Given the description of an element on the screen output the (x, y) to click on. 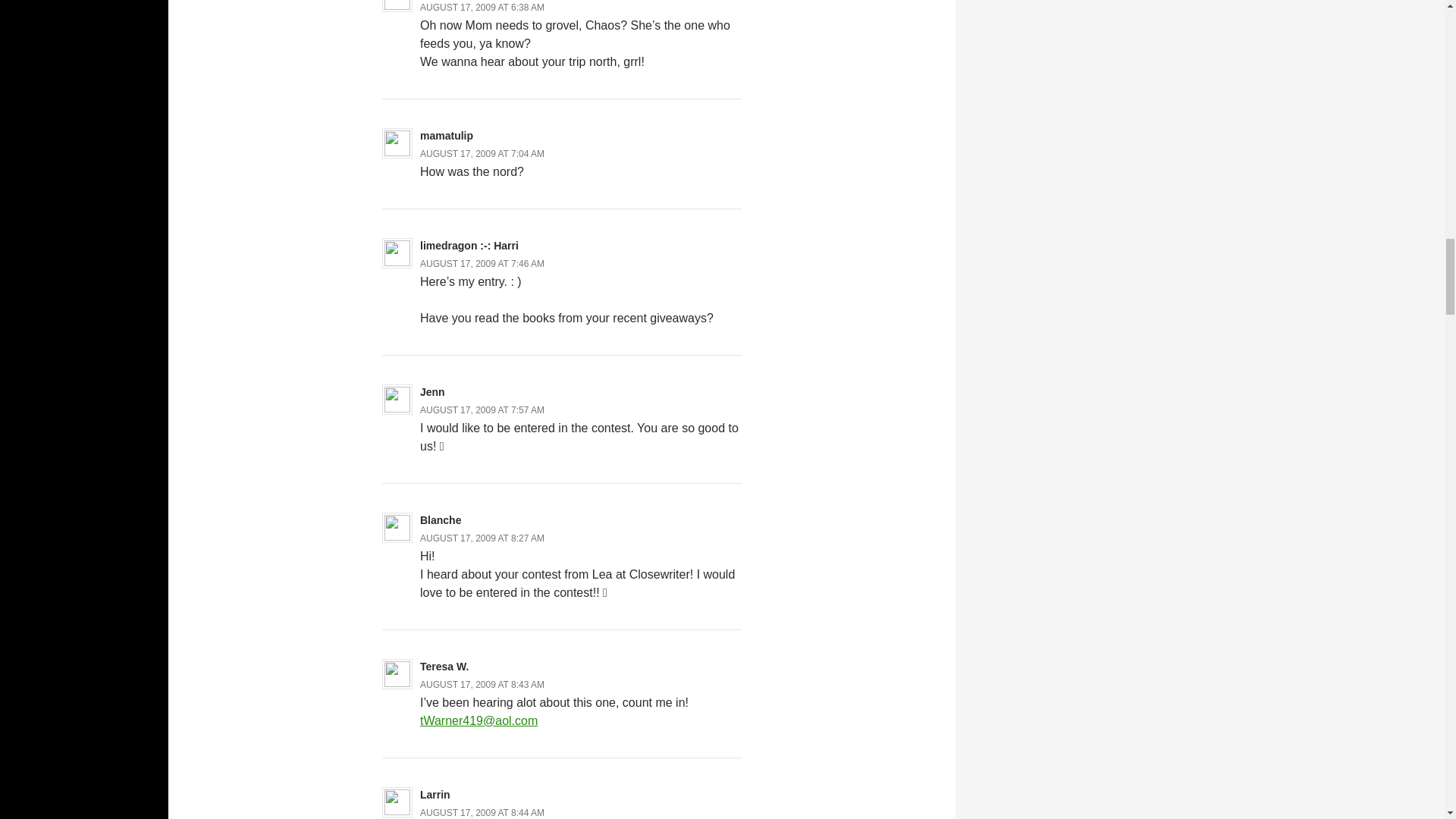
AUGUST 17, 2009 AT 7:46 AM (482, 263)
AUGUST 17, 2009 AT 7:04 AM (482, 153)
AUGUST 17, 2009 AT 7:57 AM (482, 409)
Jenn (432, 391)
AUGUST 17, 2009 AT 6:38 AM (482, 7)
AUGUST 17, 2009 AT 8:43 AM (482, 684)
mamatulip (446, 135)
AUGUST 17, 2009 AT 8:27 AM (482, 538)
limedragon :-: Harri (469, 245)
